Given the description of an element on the screen output the (x, y) to click on. 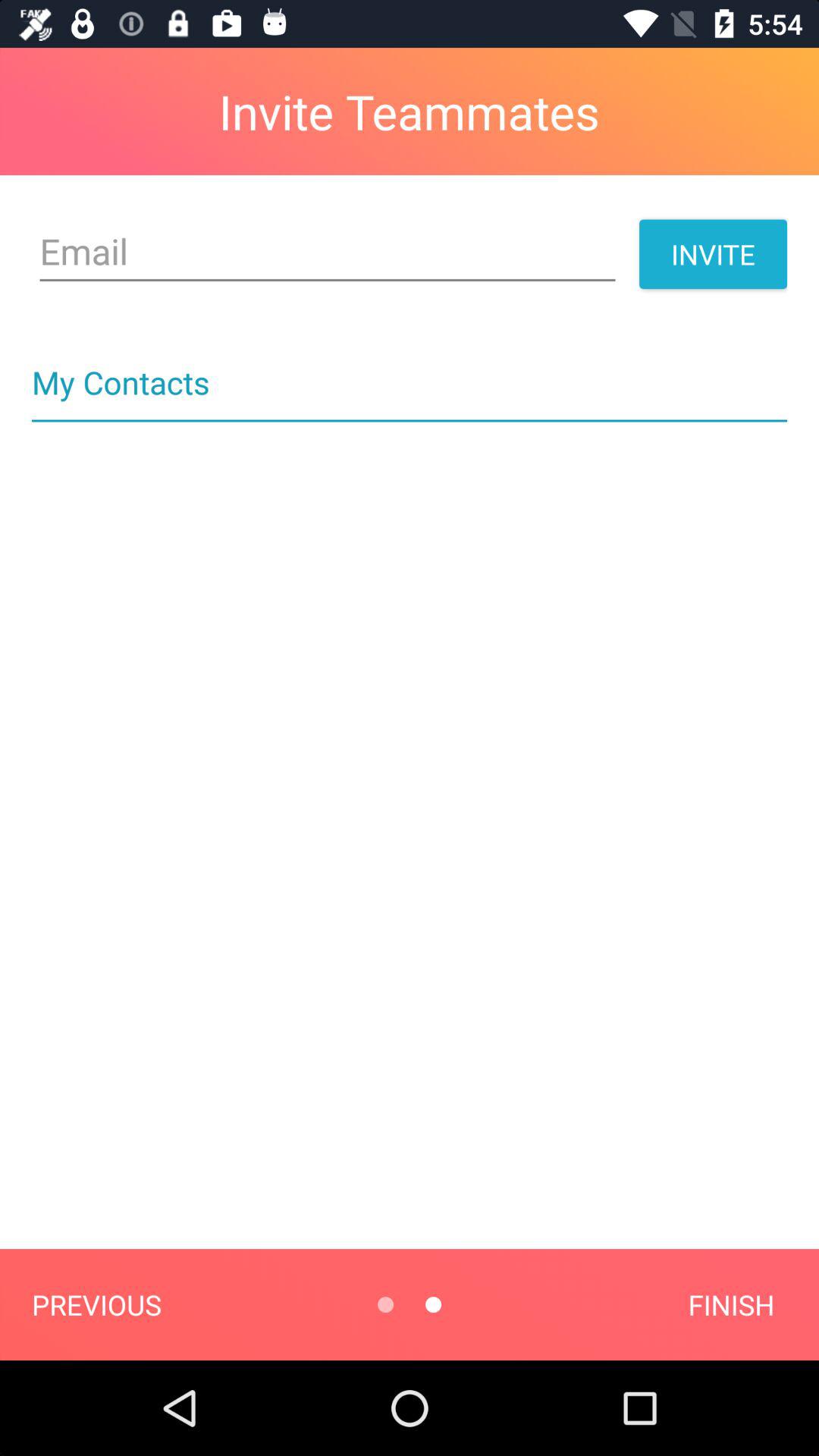
click my contacts icon (409, 365)
